Given the description of an element on the screen output the (x, y) to click on. 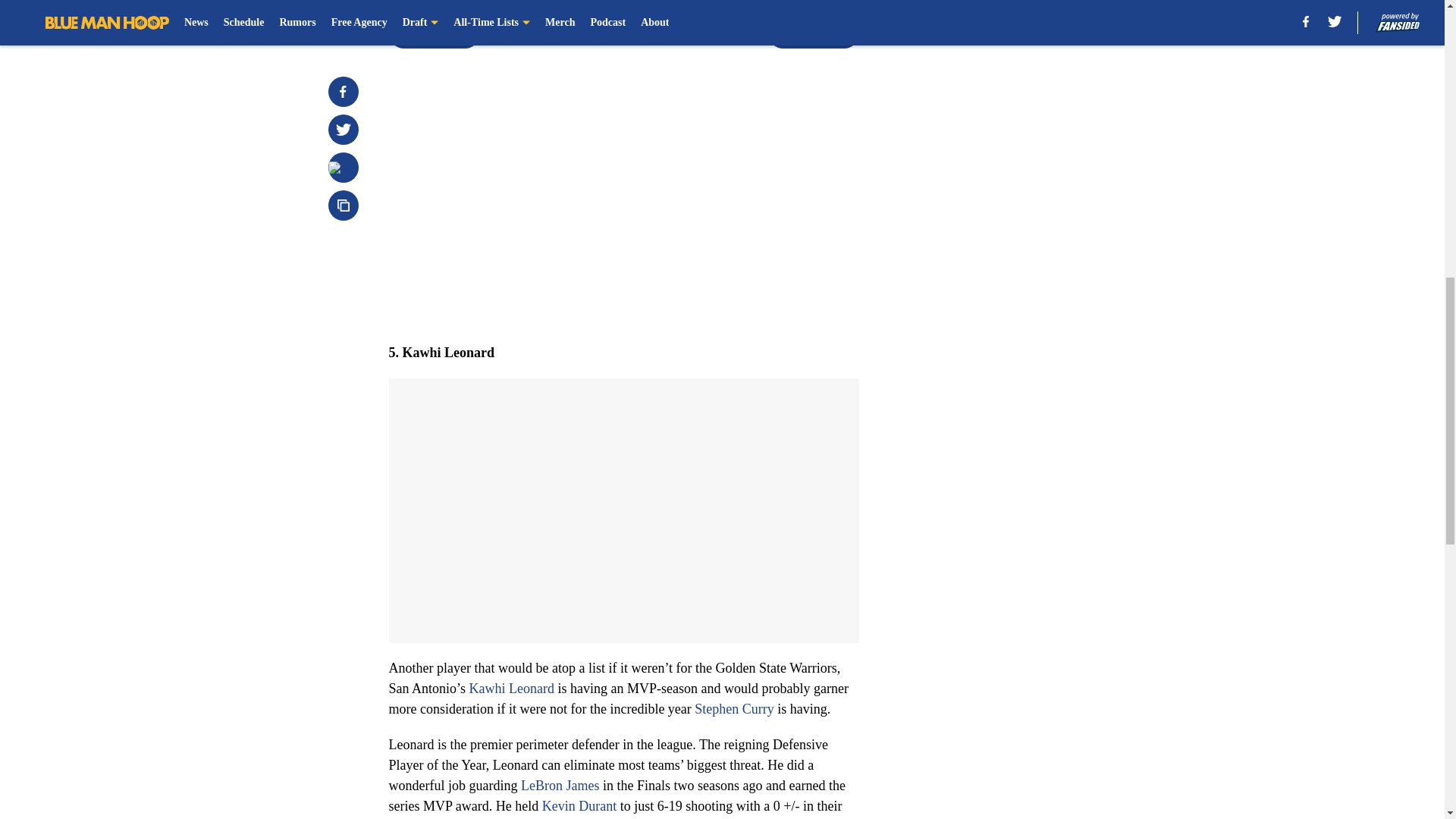
Prev (433, 33)
Stephen Curry (733, 708)
Kawhi Leonard (511, 688)
LeBron James (559, 785)
Kevin Durant (578, 806)
Next (813, 33)
